Given the description of an element on the screen output the (x, y) to click on. 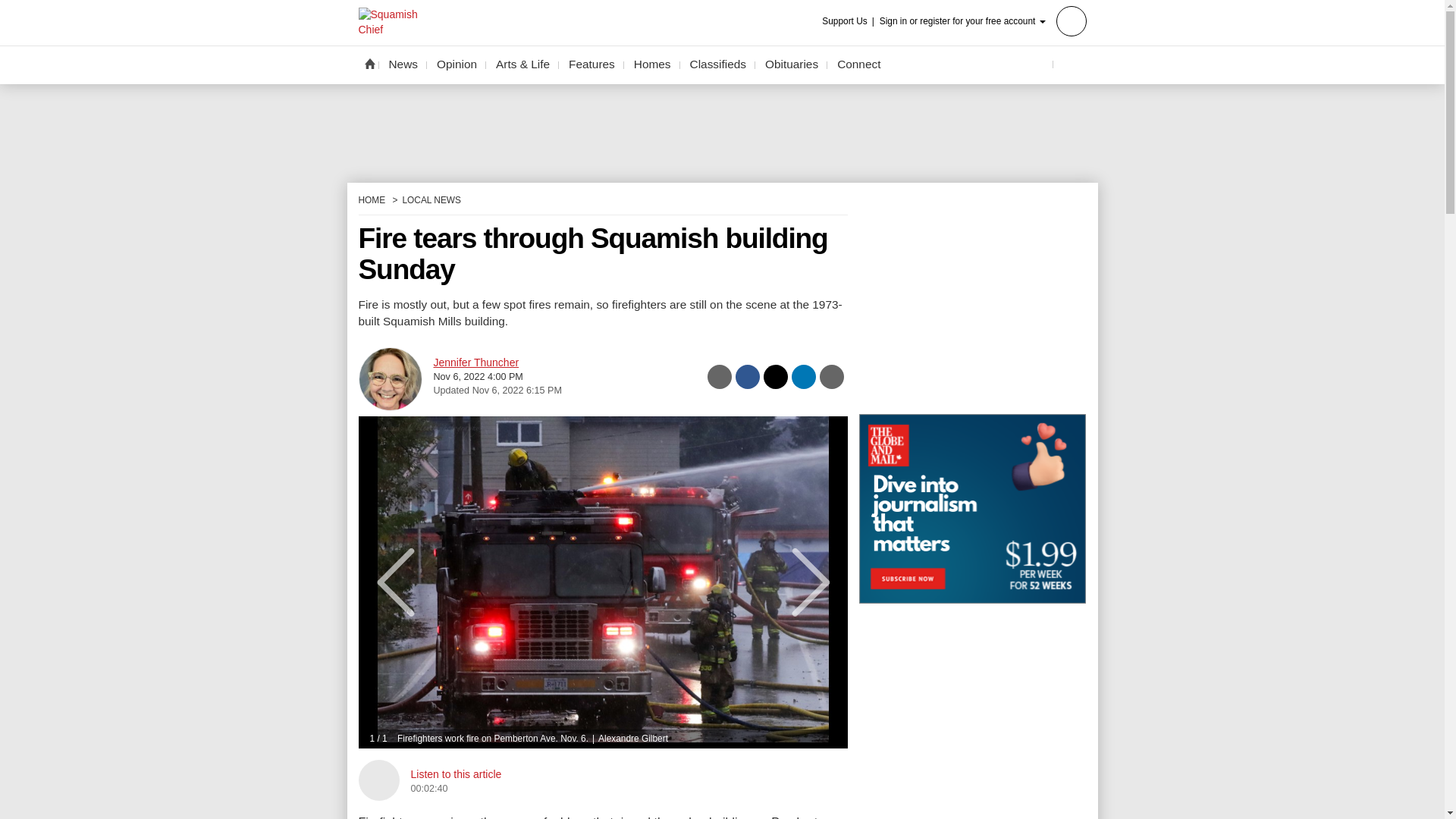
Sign in or register for your free account (982, 20)
News (403, 64)
Support Us (849, 21)
Home (368, 63)
Opinion (456, 64)
